Given the description of an element on the screen output the (x, y) to click on. 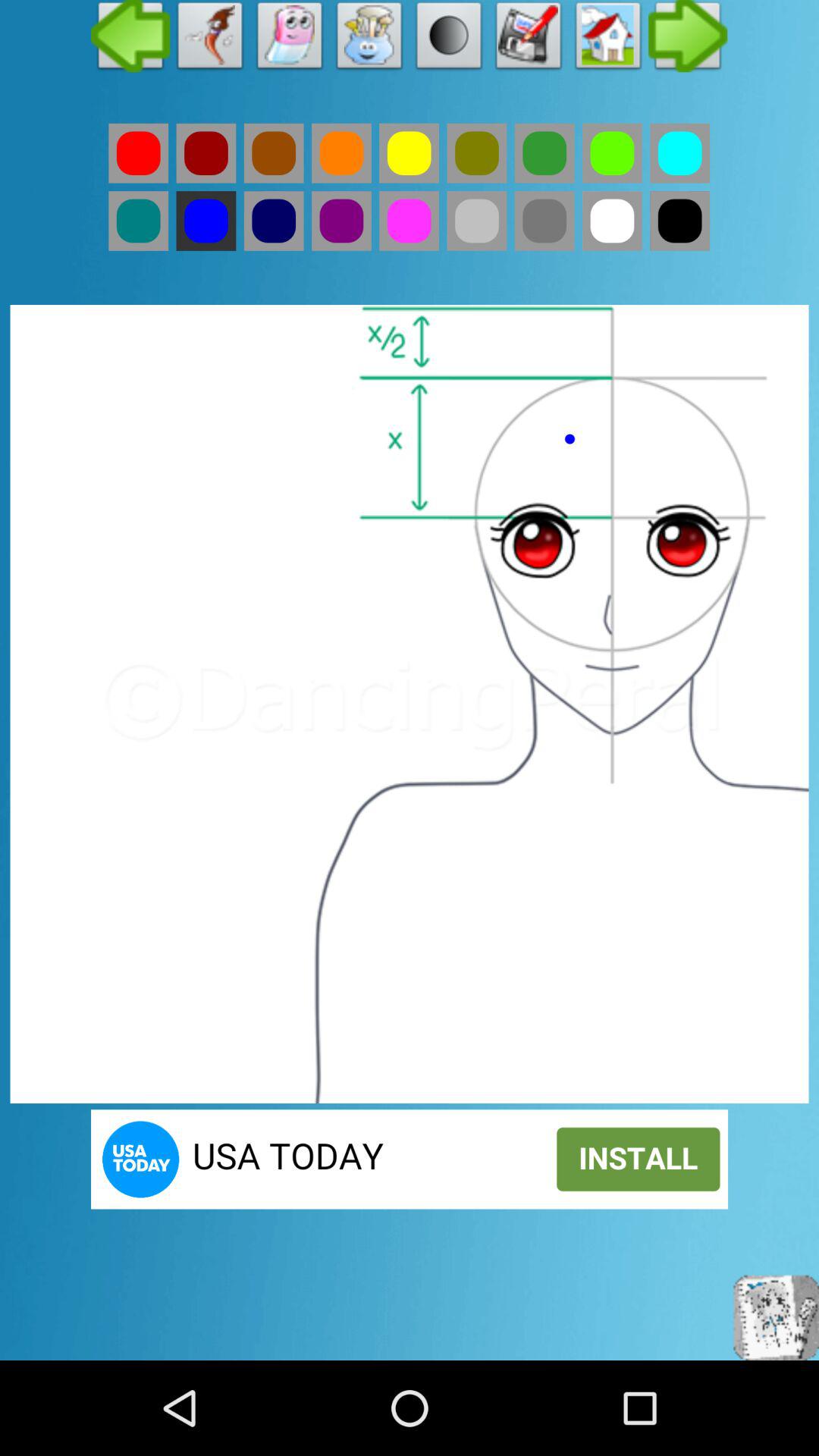
view further options (688, 39)
